Given the description of an element on the screen output the (x, y) to click on. 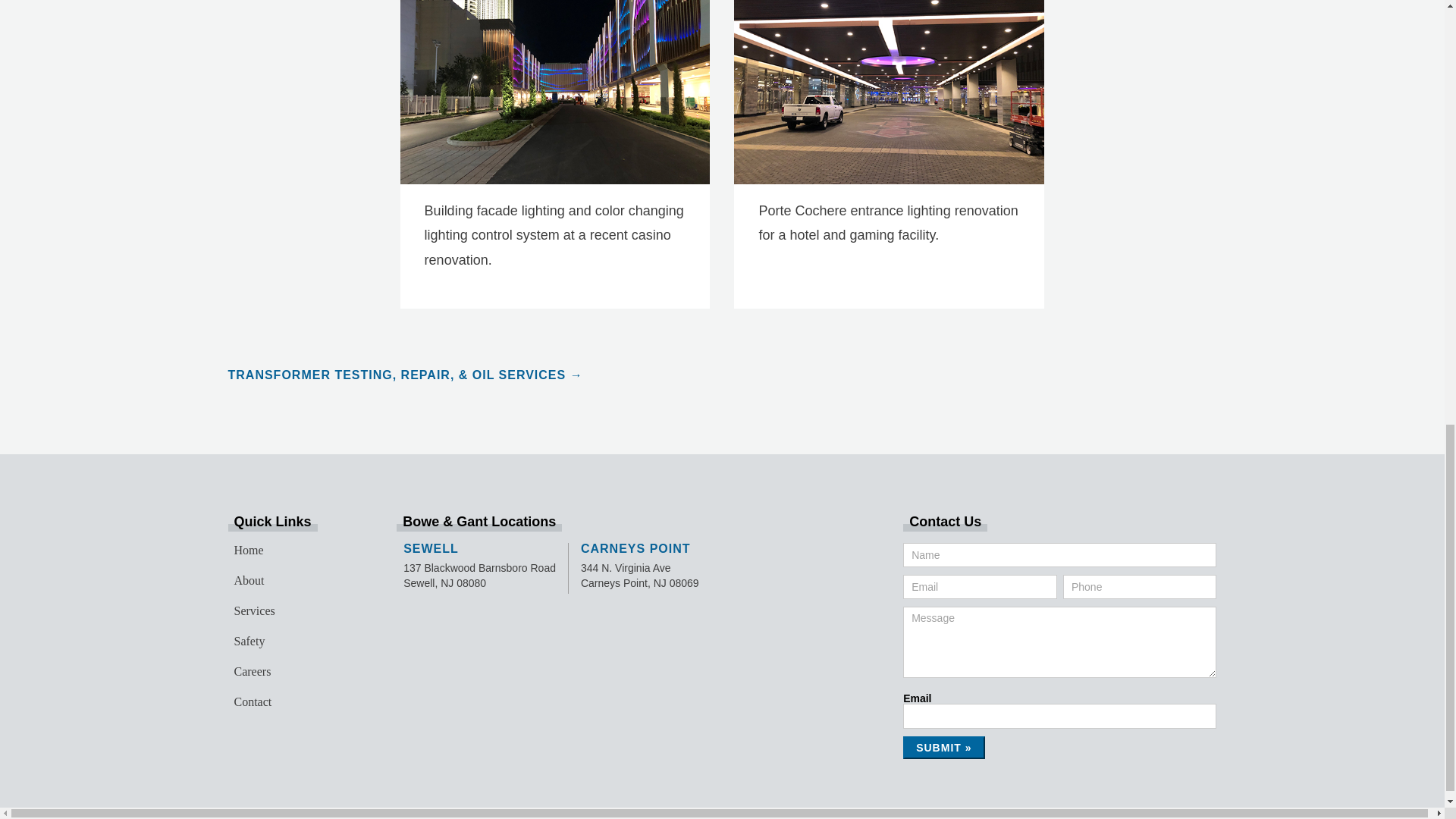
Contact (299, 702)
Services (299, 611)
About (299, 580)
Careers (299, 671)
Safety (299, 641)
Home (299, 549)
